Given the description of an element on the screen output the (x, y) to click on. 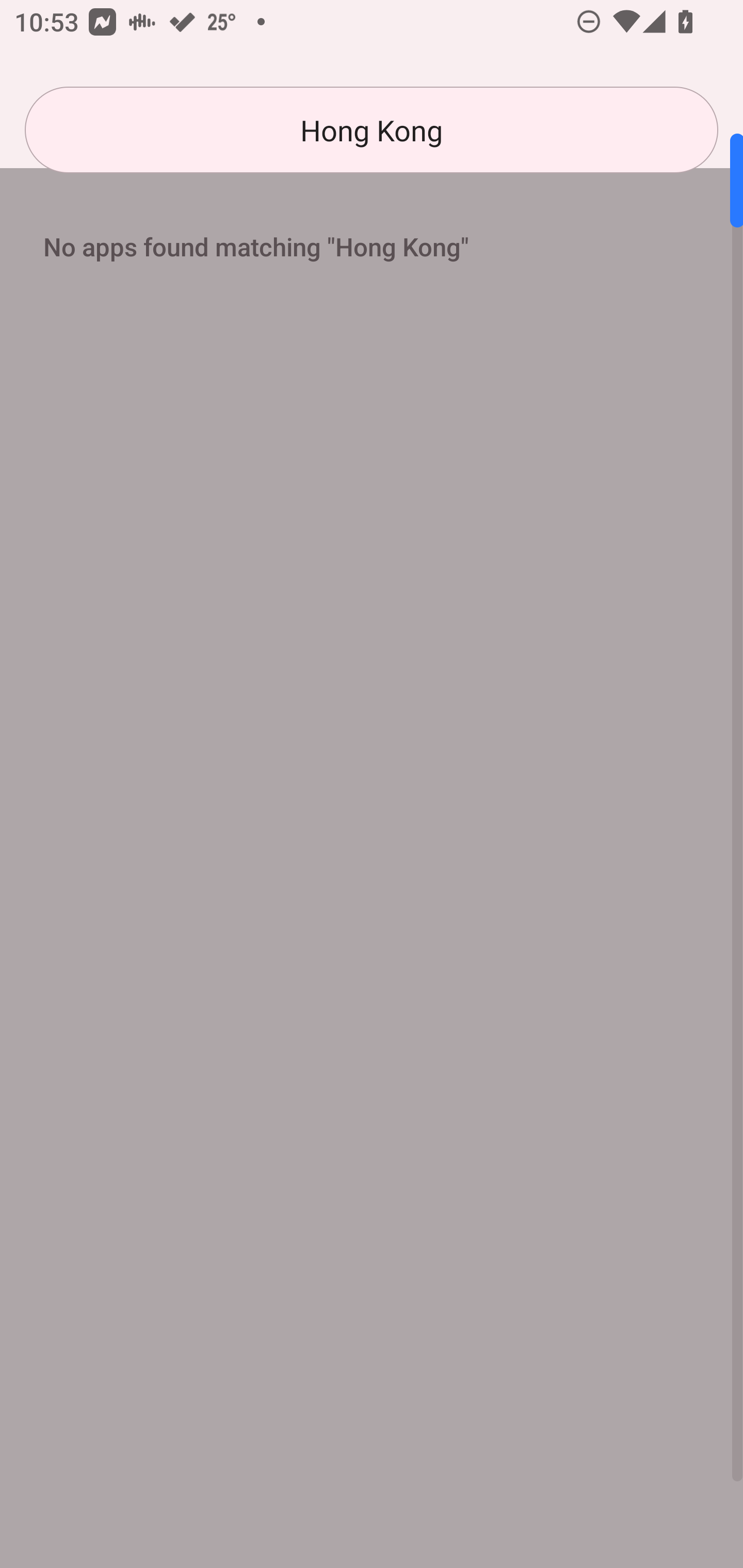
Hong Kong (371, 130)
